Given the description of an element on the screen output the (x, y) to click on. 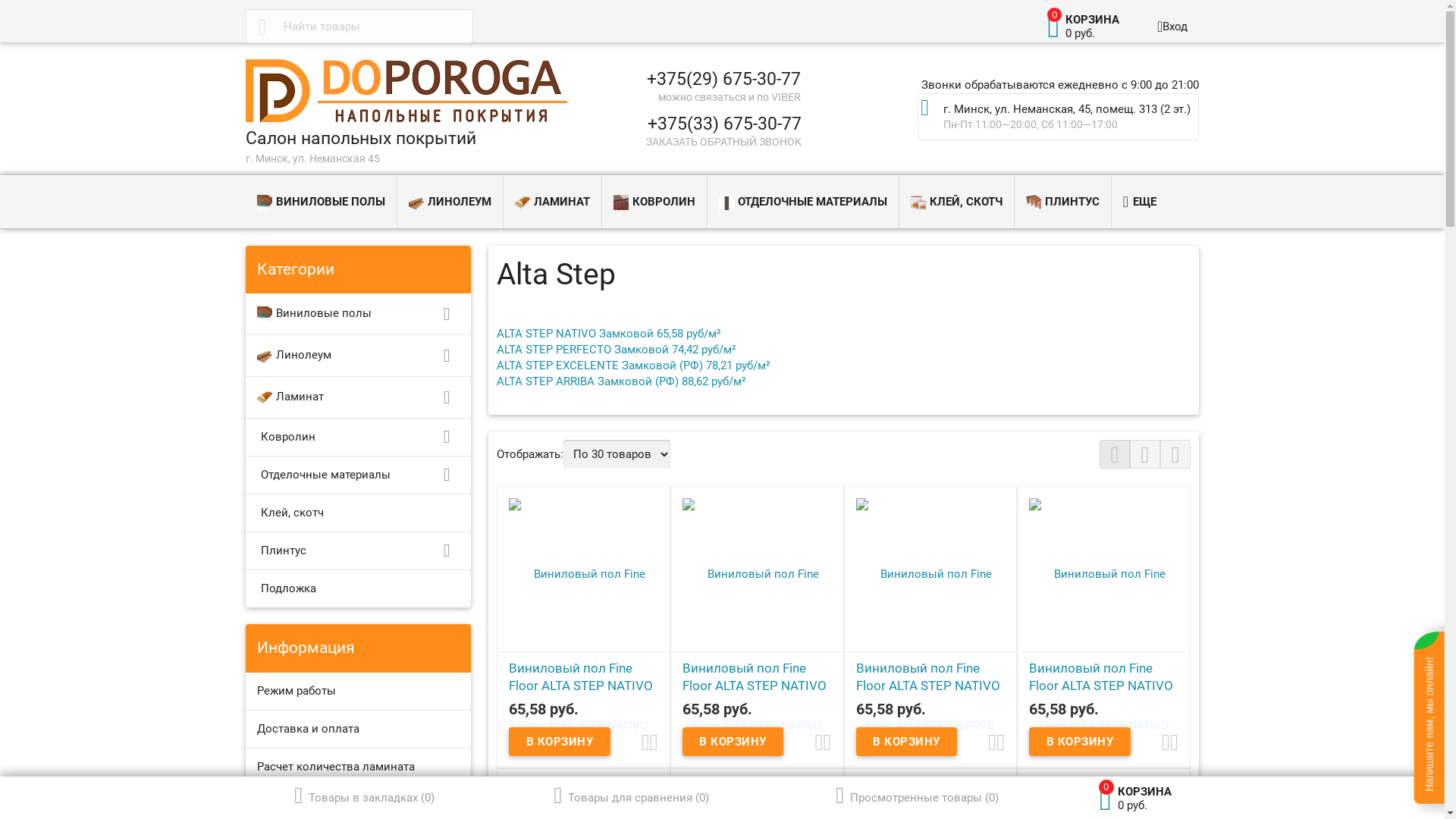
+375(33) 675-30-77 Element type: text (723, 122)
+375(29) 675-30-77 Element type: text (723, 78)
